Given the description of an element on the screen output the (x, y) to click on. 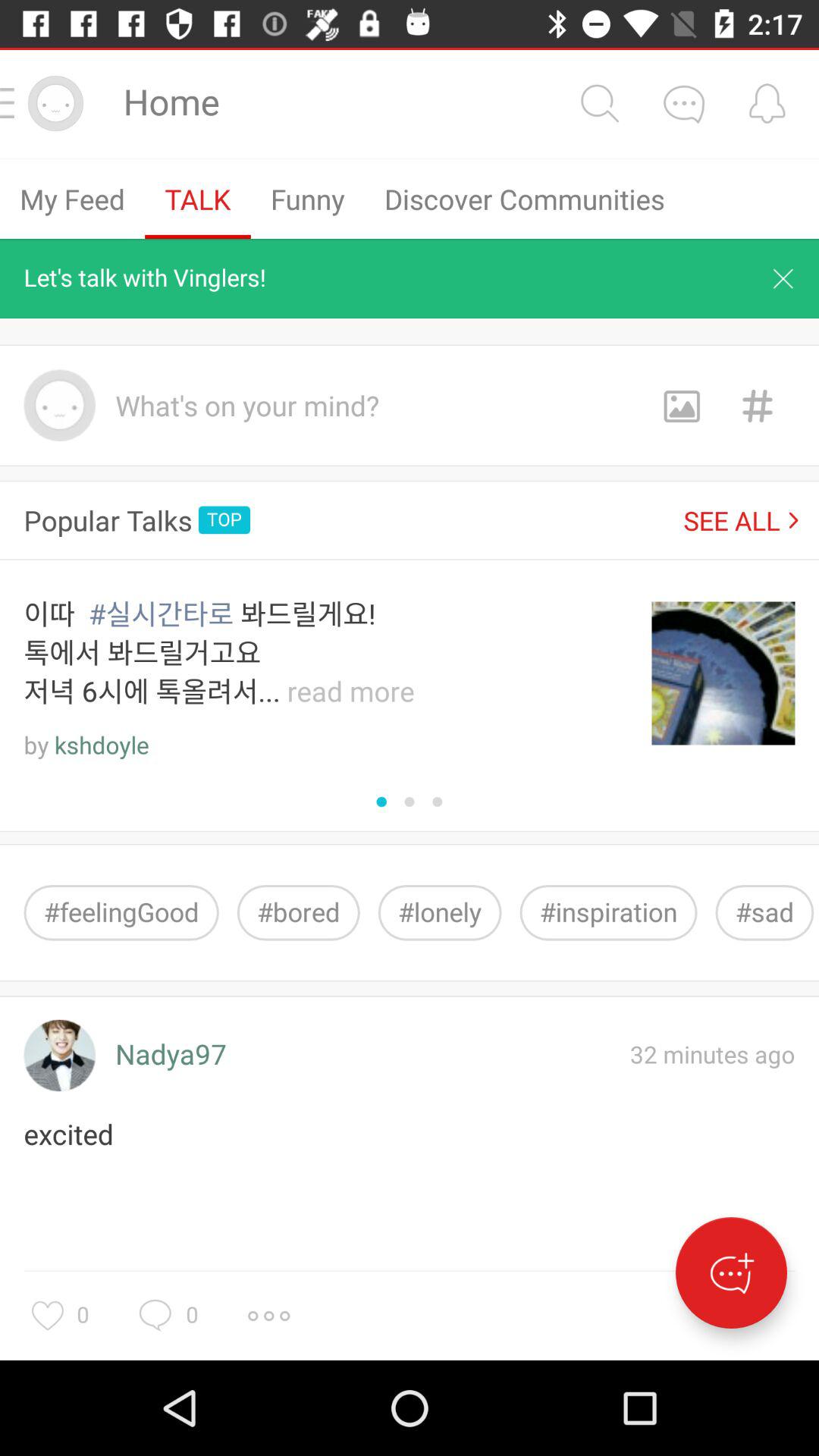
show notifications (766, 103)
